Given the description of an element on the screen output the (x, y) to click on. 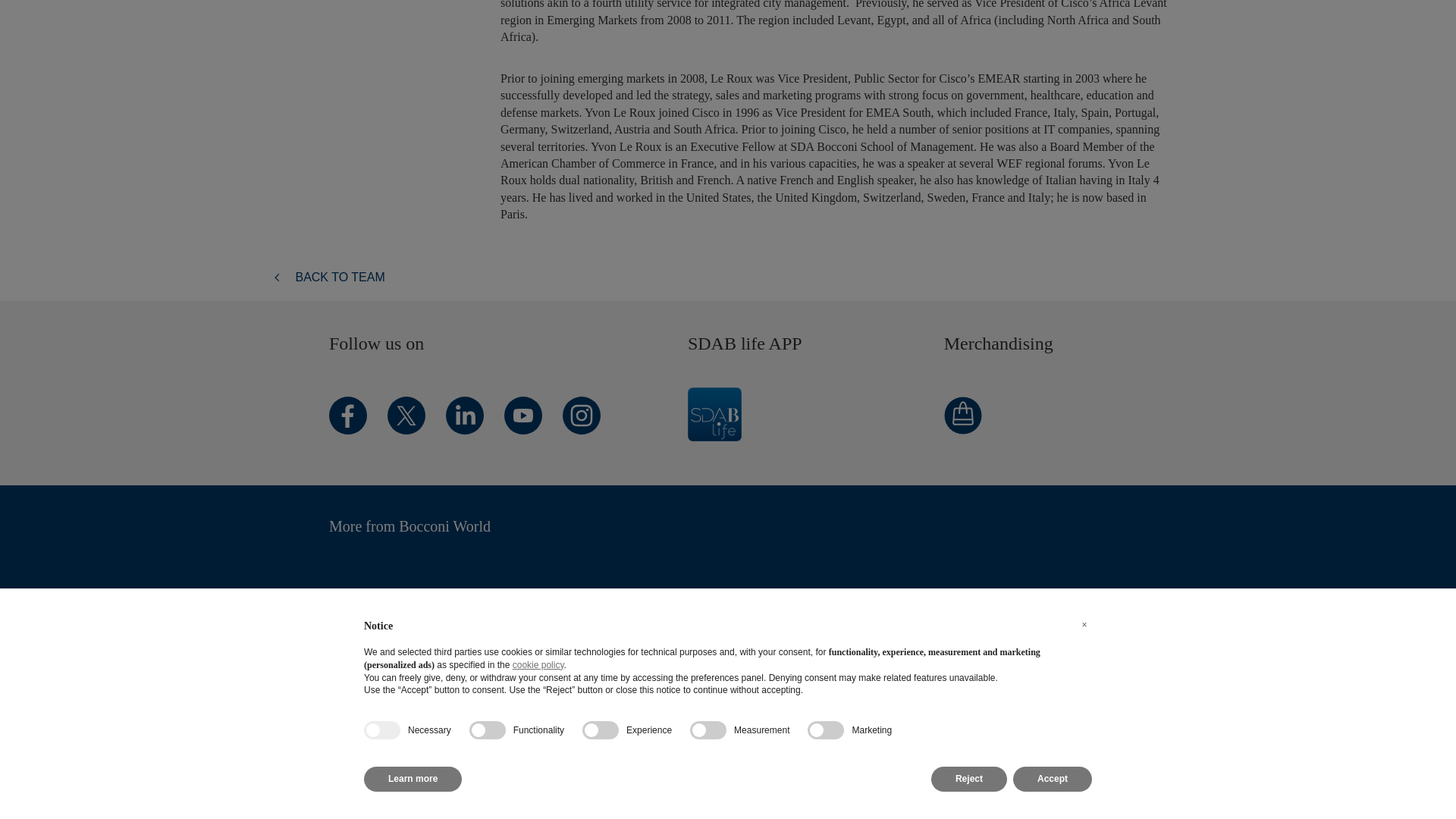
false (600, 207)
false (708, 207)
true (382, 207)
false (826, 207)
false (486, 207)
